Given the description of an element on the screen output the (x, y) to click on. 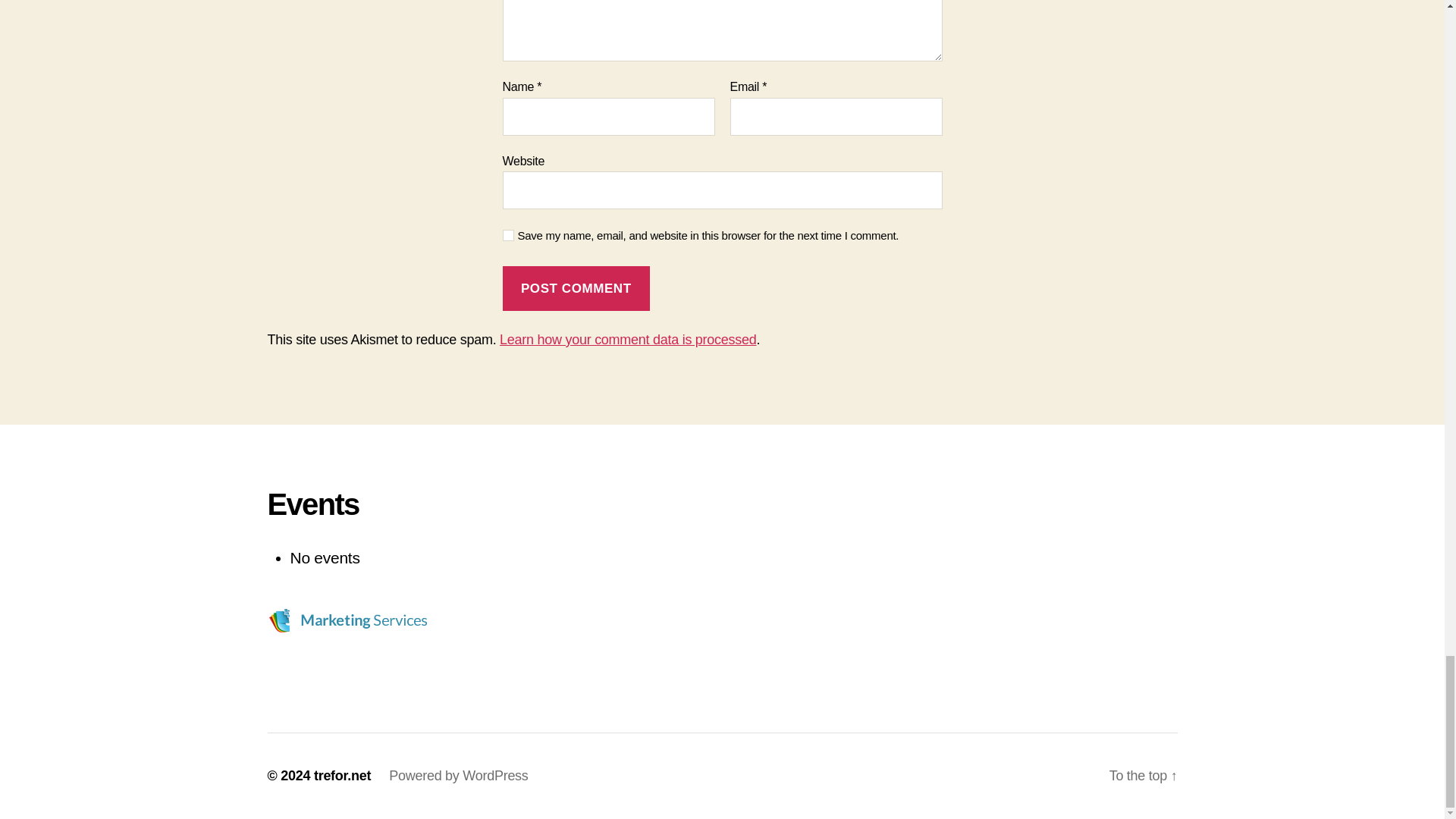
yes (507, 235)
Post Comment (575, 288)
